Given the description of an element on the screen output the (x, y) to click on. 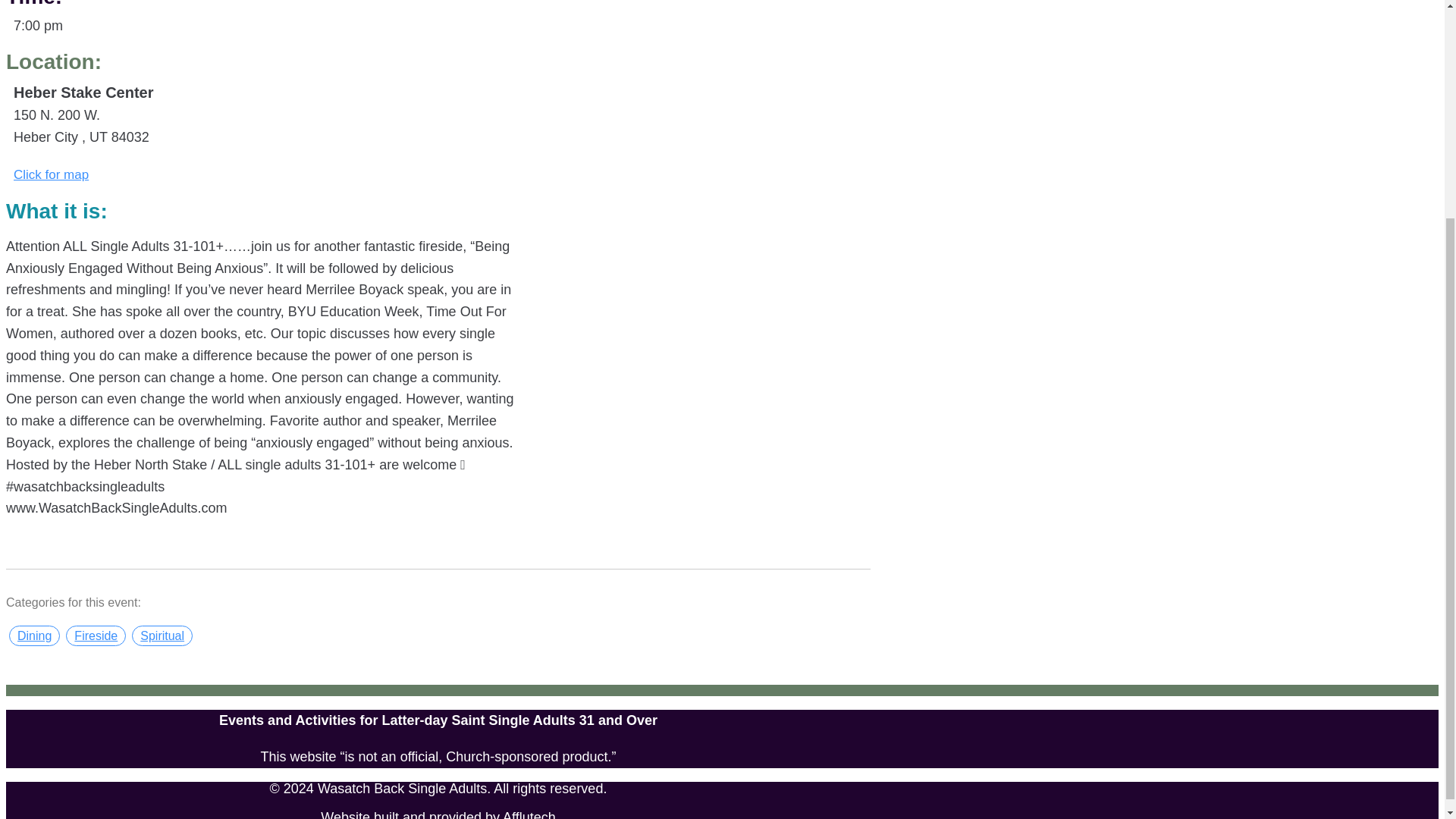
Dining (33, 635)
Spiritual (162, 635)
Fireside (95, 635)
Click for map (50, 174)
